Given the description of an element on the screen output the (x, y) to click on. 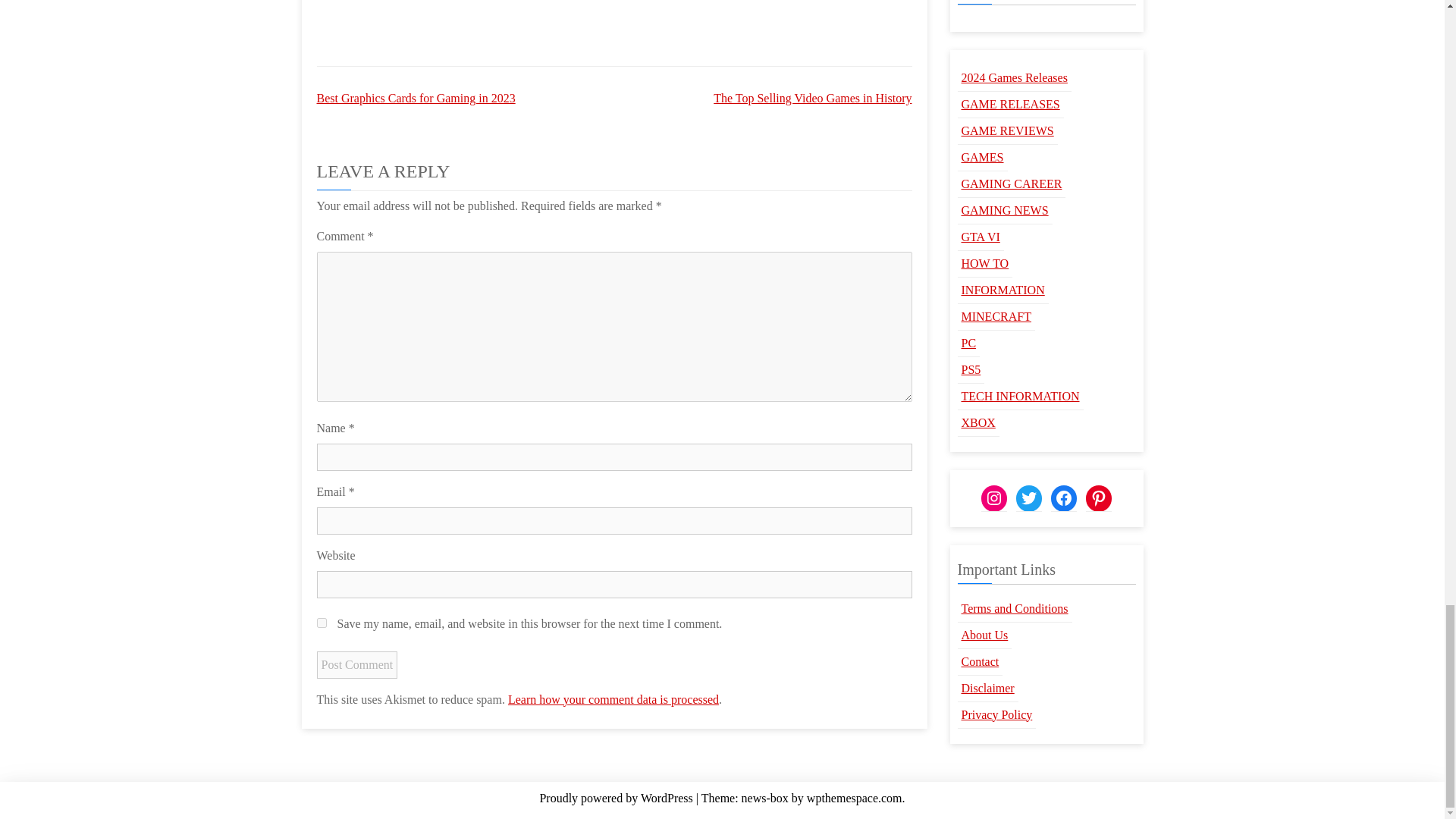
yes (321, 623)
Post Comment (357, 664)
Best Graphics Cards for Gaming in 2023 (416, 97)
